Given the description of an element on the screen output the (x, y) to click on. 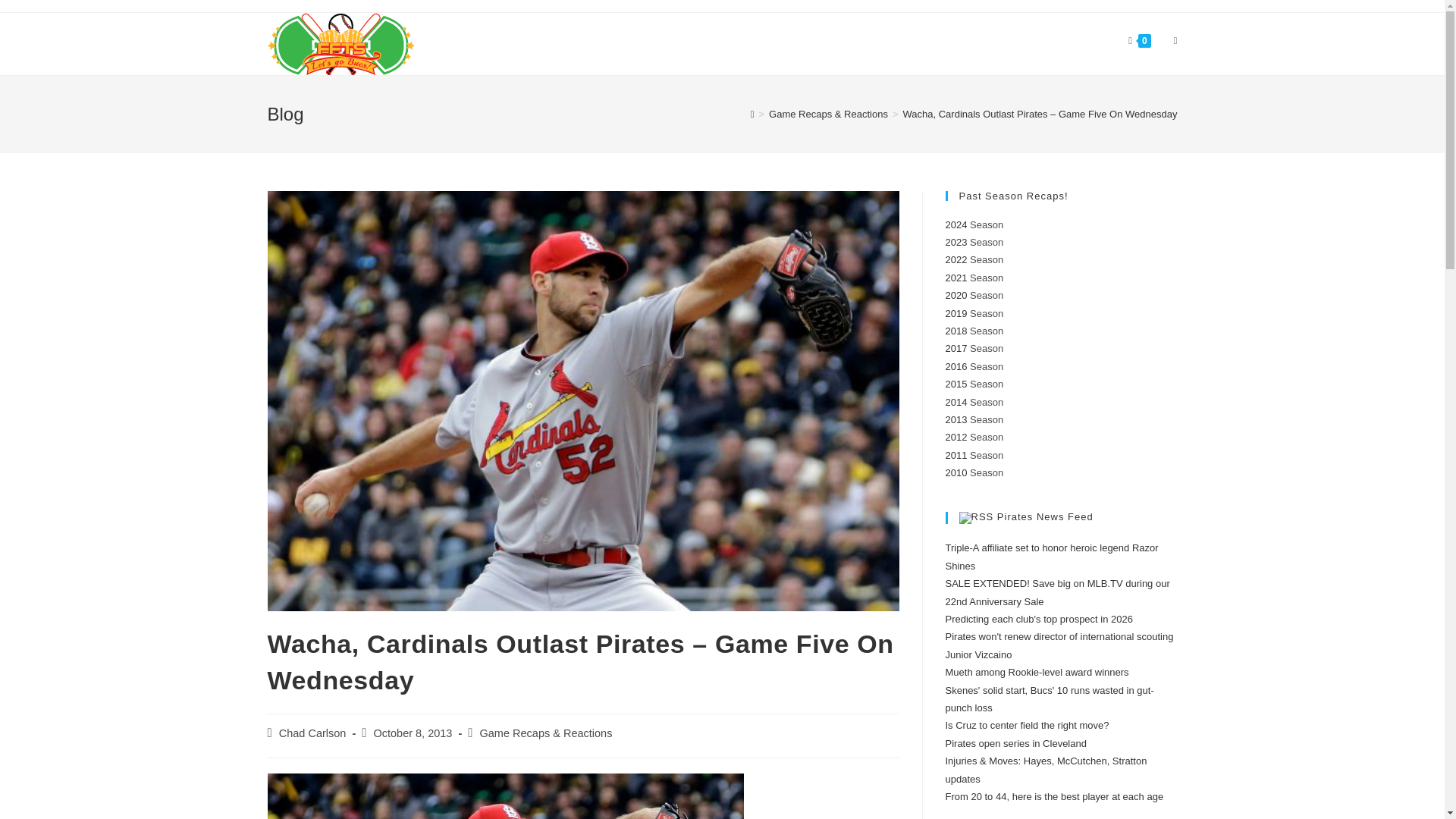
2021 (955, 277)
2012 (955, 437)
2013 (955, 419)
2023 (955, 242)
2014 (955, 401)
2017 (955, 348)
2016 (955, 366)
2018 (955, 330)
2019 (955, 313)
Chad Carlson (312, 733)
